Given the description of an element on the screen output the (x, y) to click on. 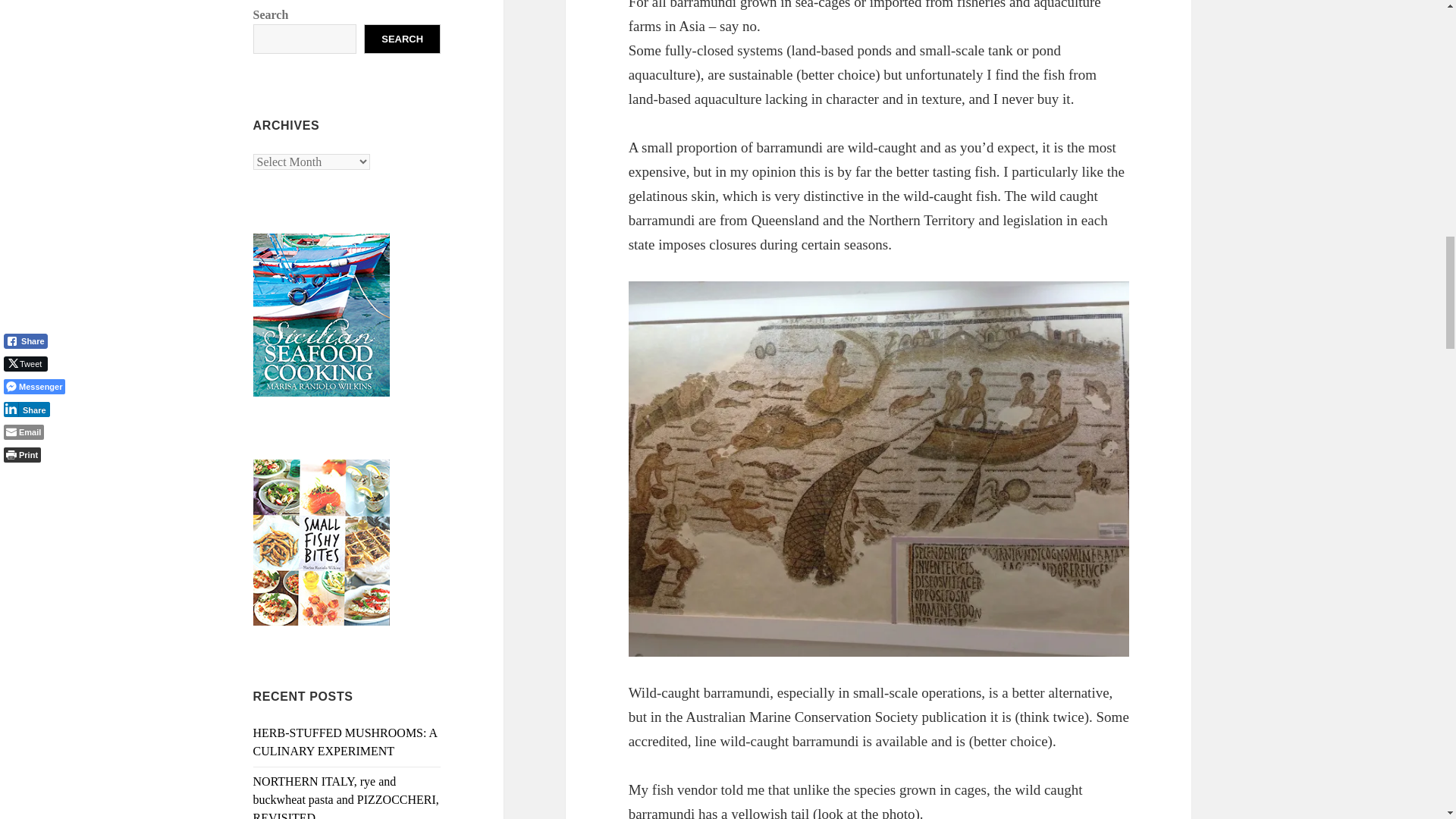
HERB-STUFFED MUSHROOMS: A CULINARY EXPERIMENT (345, 741)
SEARCH (402, 39)
